Given the description of an element on the screen output the (x, y) to click on. 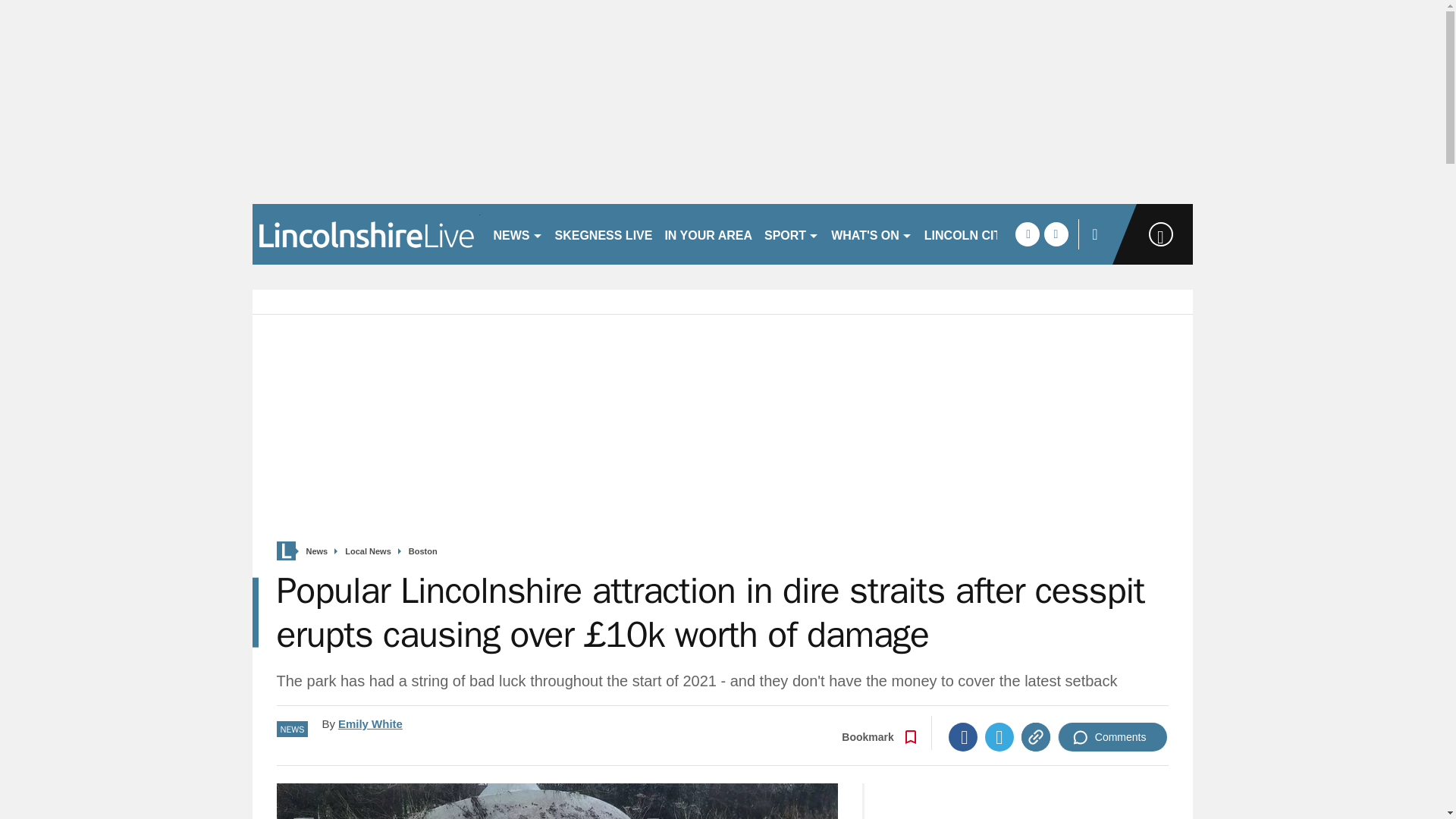
SKEGNESS LIVE (603, 233)
facebook (1026, 233)
twitter (1055, 233)
Twitter (999, 736)
NEWS (517, 233)
Facebook (962, 736)
IN YOUR AREA (708, 233)
SPORT (791, 233)
LINCOLN CITY FC (975, 233)
lincolnshirelive (365, 233)
WHAT'S ON (871, 233)
Comments (1112, 736)
